Given the description of an element on the screen output the (x, y) to click on. 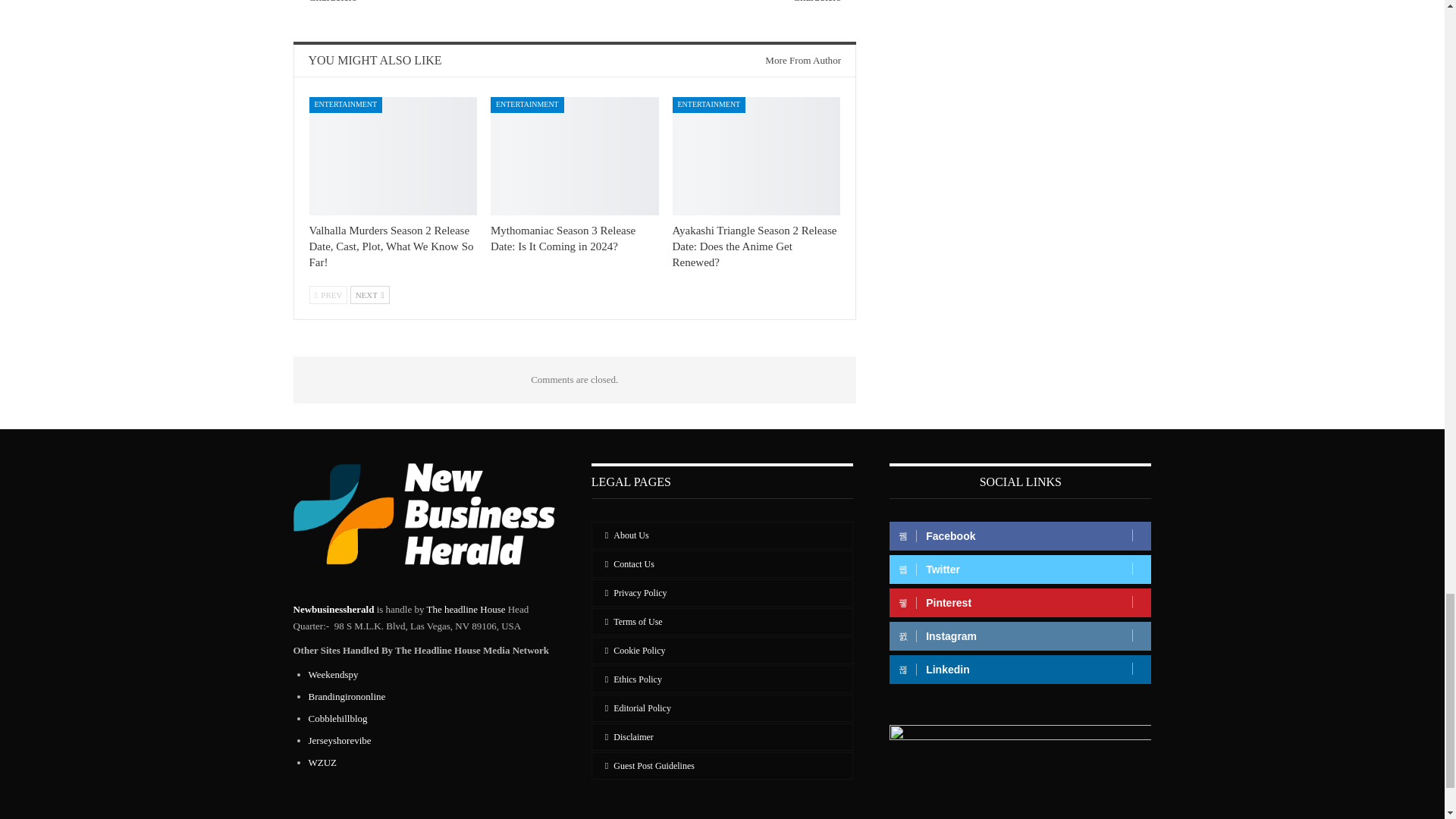
Mythomaniac Season 3 Release Date: Is It Coming in 2024? (574, 155)
Mythomaniac Season 3 Release Date: Is It Coming in 2024? (562, 238)
